Given the description of an element on the screen output the (x, y) to click on. 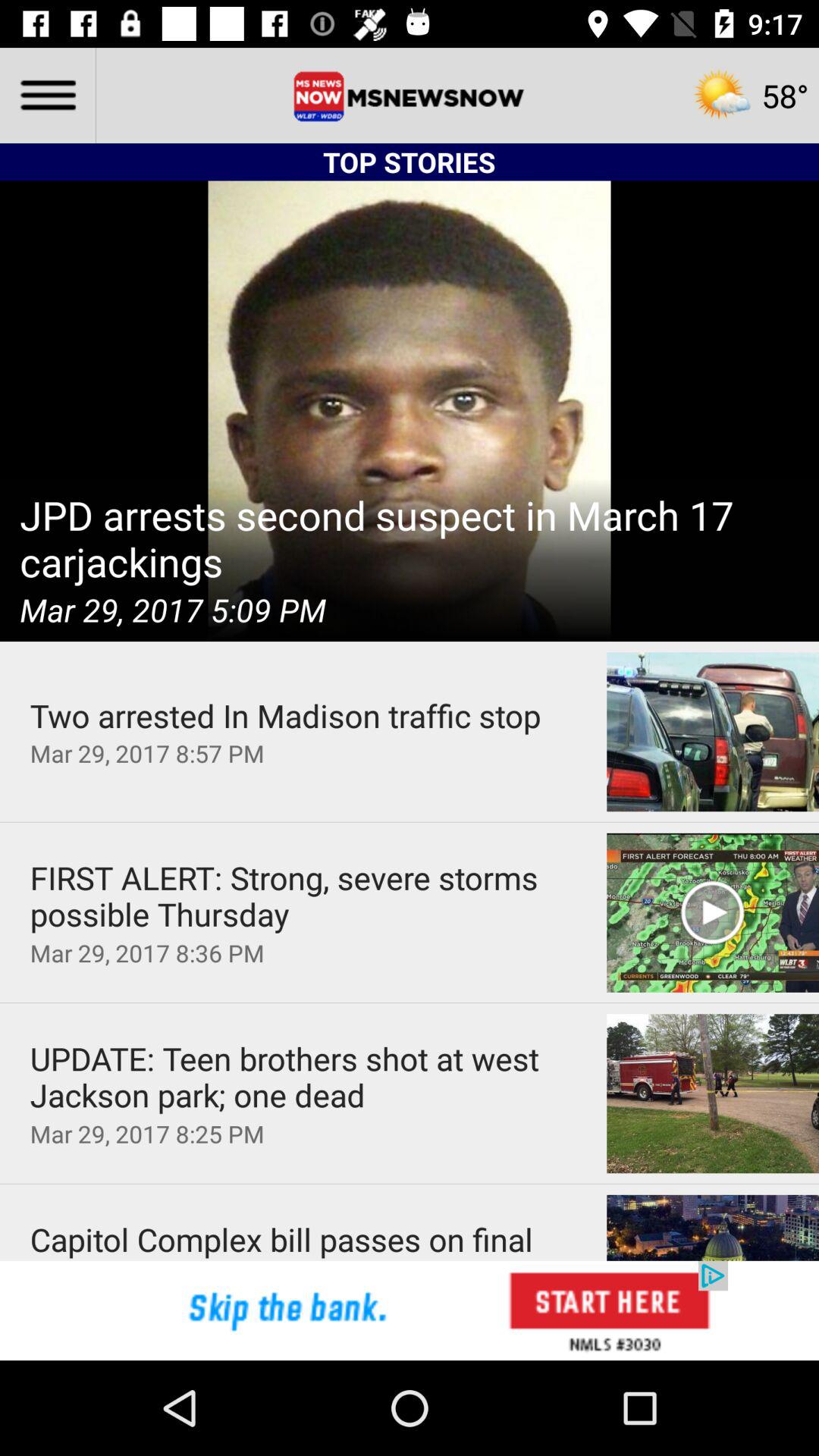
click on the image which is on mar 29 2017 825 pm (712, 1093)
select the weather image on the top right (750, 95)
